Given the description of an element on the screen output the (x, y) to click on. 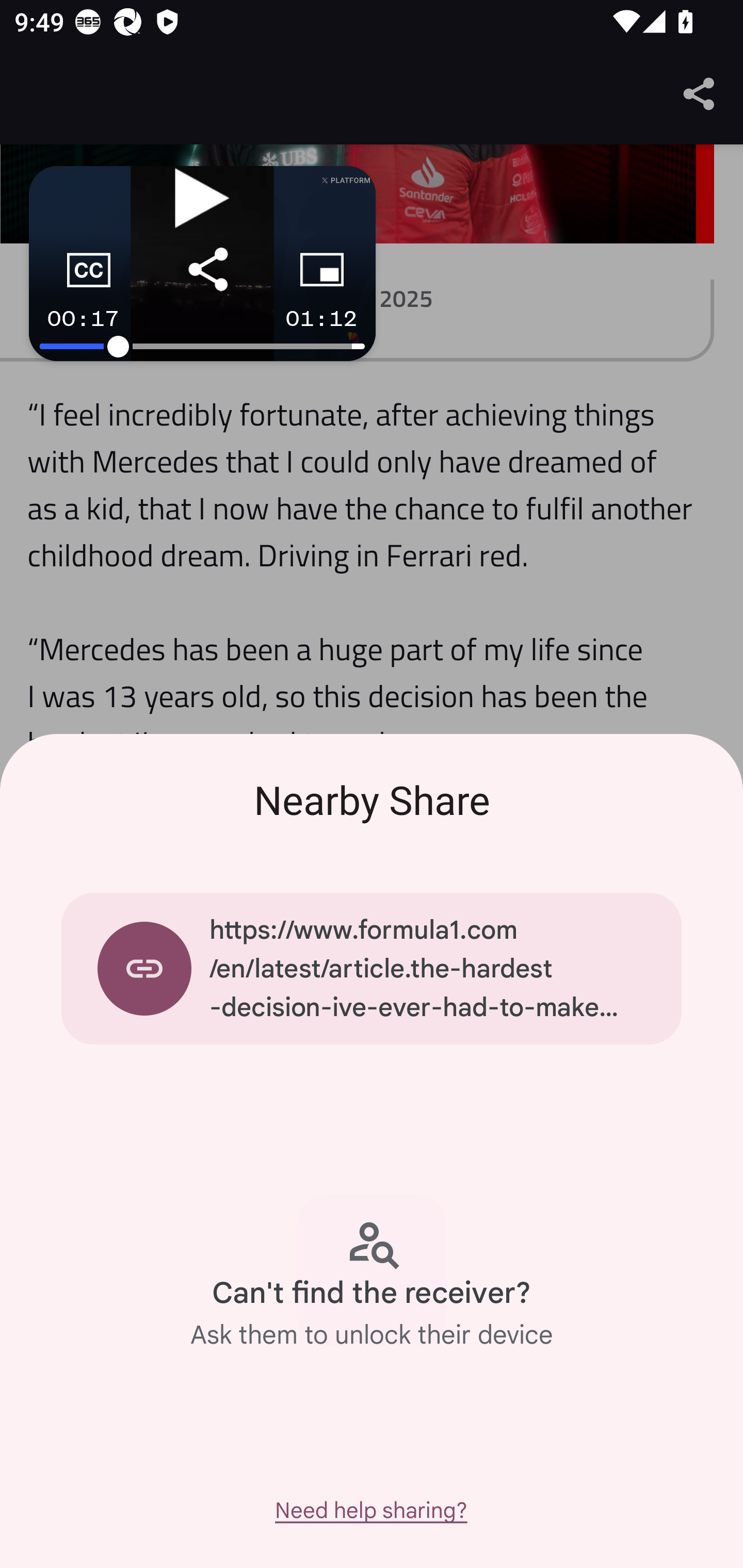
Need help sharing? (370, 1510)
